Given the description of an element on the screen output the (x, y) to click on. 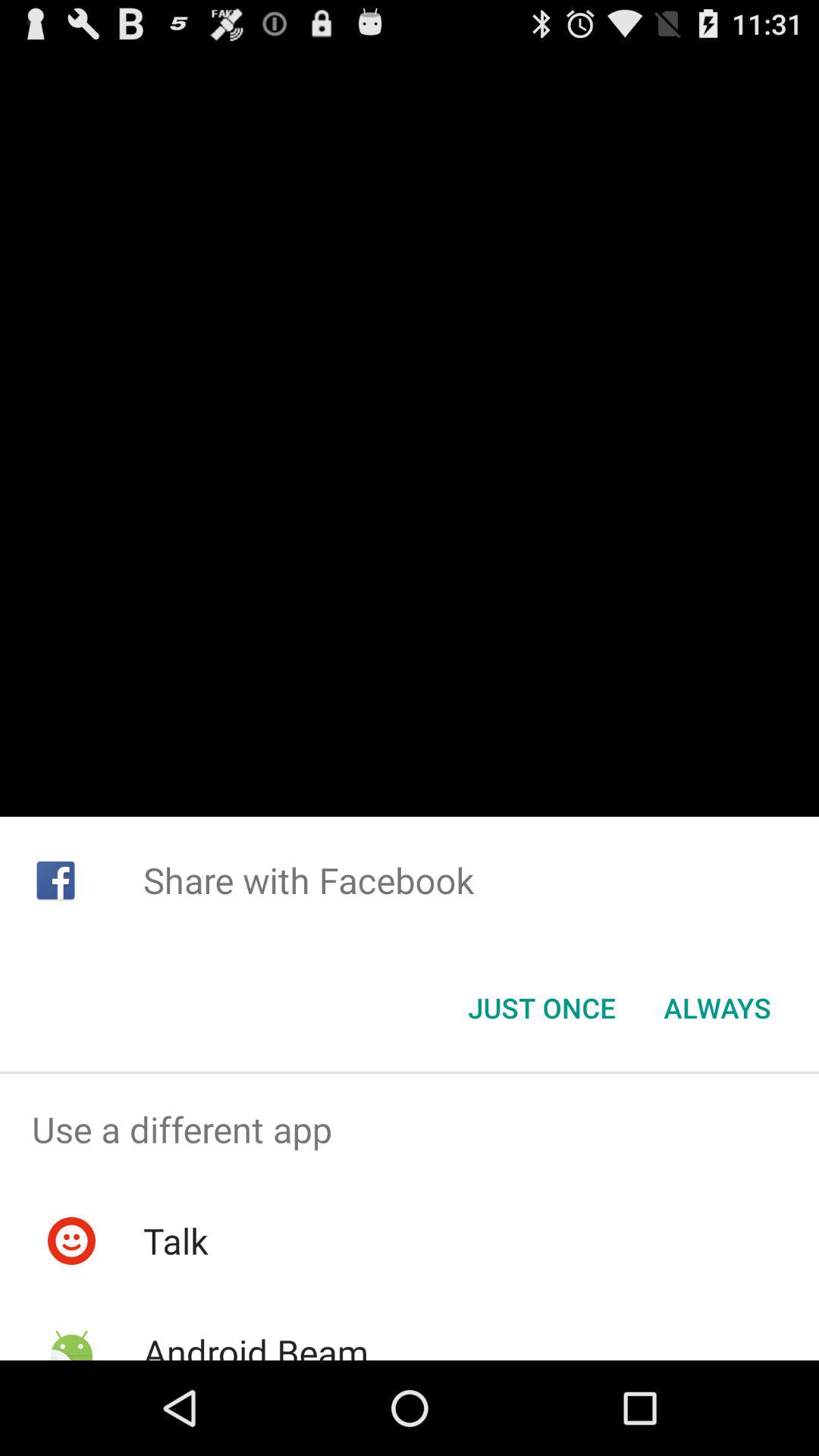
scroll to the just once (541, 1007)
